Given the description of an element on the screen output the (x, y) to click on. 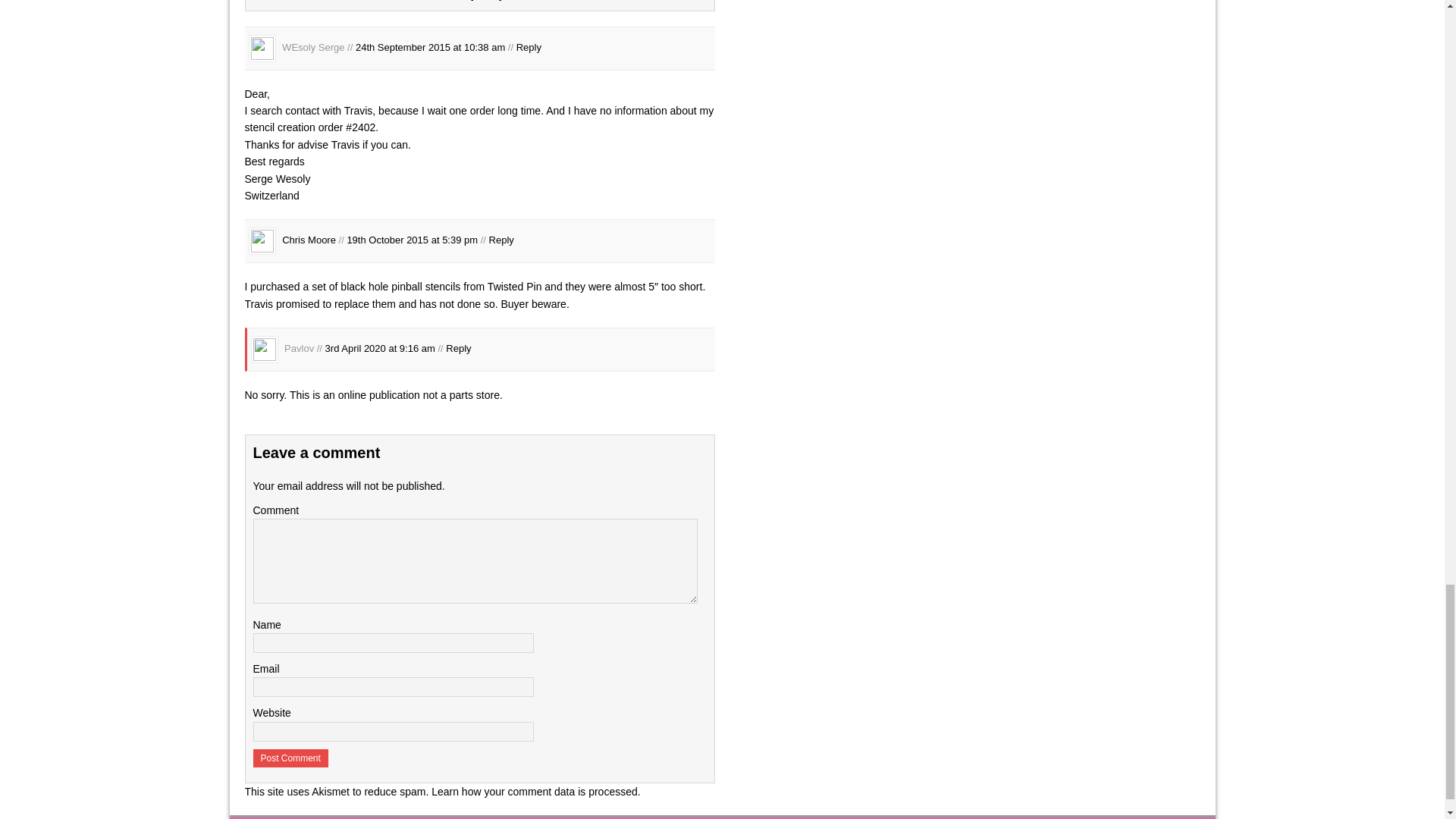
Reply (528, 47)
Chris Moore (309, 240)
Post Comment (291, 758)
3rd April 2020 at 9:16 am (379, 348)
Learn how your comment data is processed (533, 791)
Post Comment (291, 758)
Reply (501, 240)
19th October 2015 at 5:39 pm (411, 240)
24th September 2015 at 10:38 am (430, 47)
Reply (457, 348)
